Given the description of an element on the screen output the (x, y) to click on. 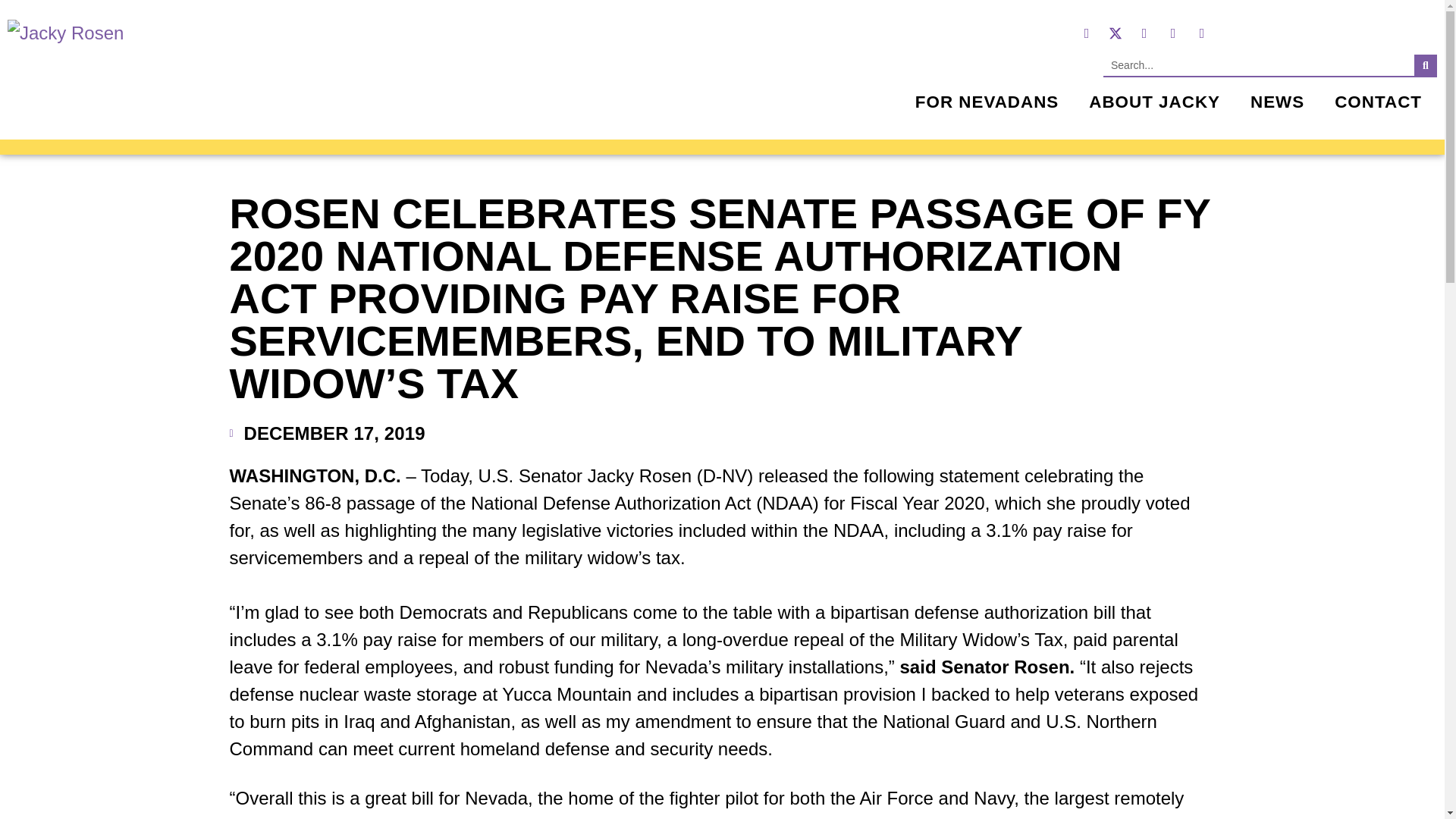
FOR NEVADANS (986, 102)
ABOUT JACKY (1154, 102)
NEWS (1276, 102)
